Given the description of an element on the screen output the (x, y) to click on. 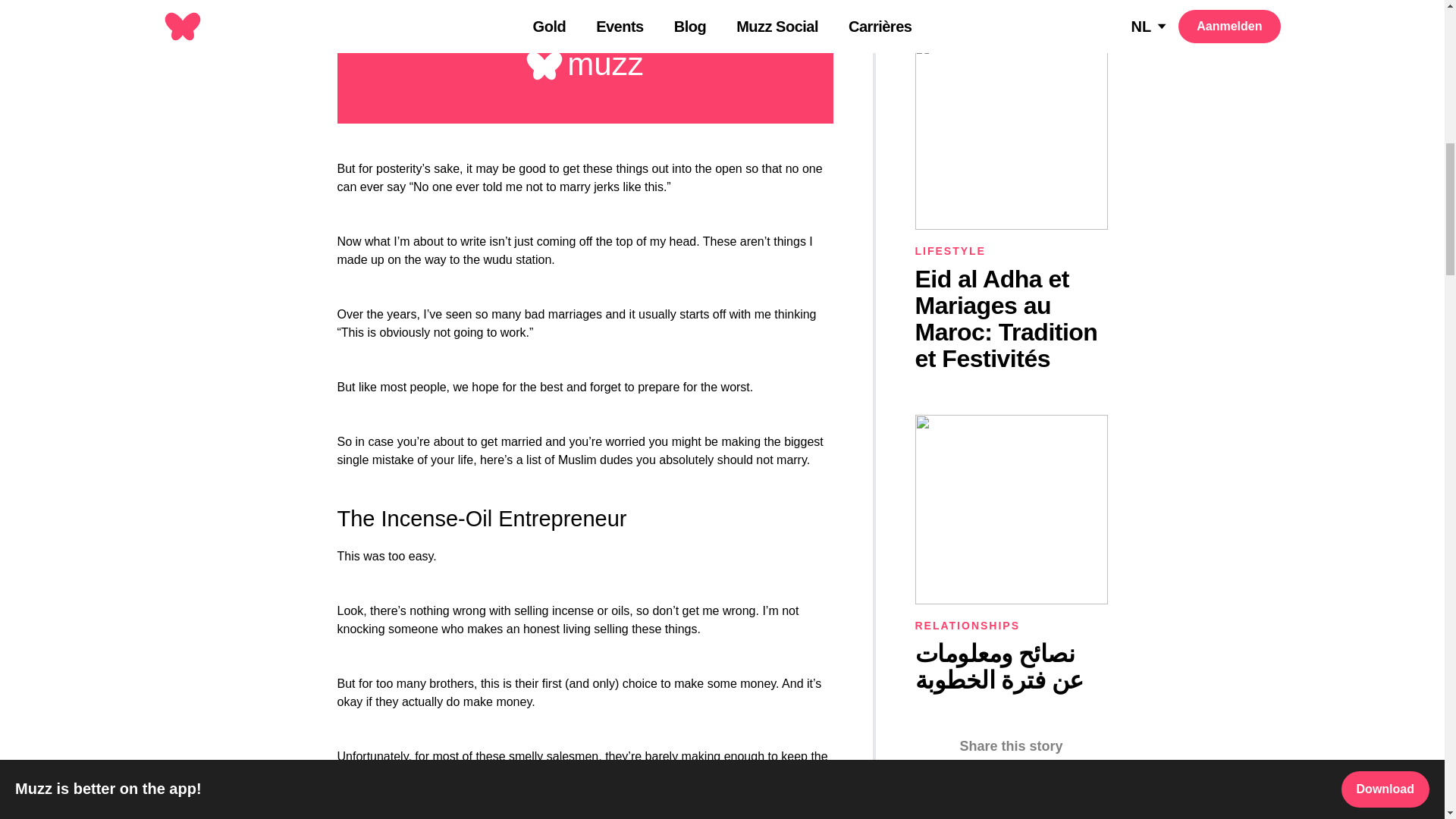
Download Now (584, 10)
